Given the description of an element on the screen output the (x, y) to click on. 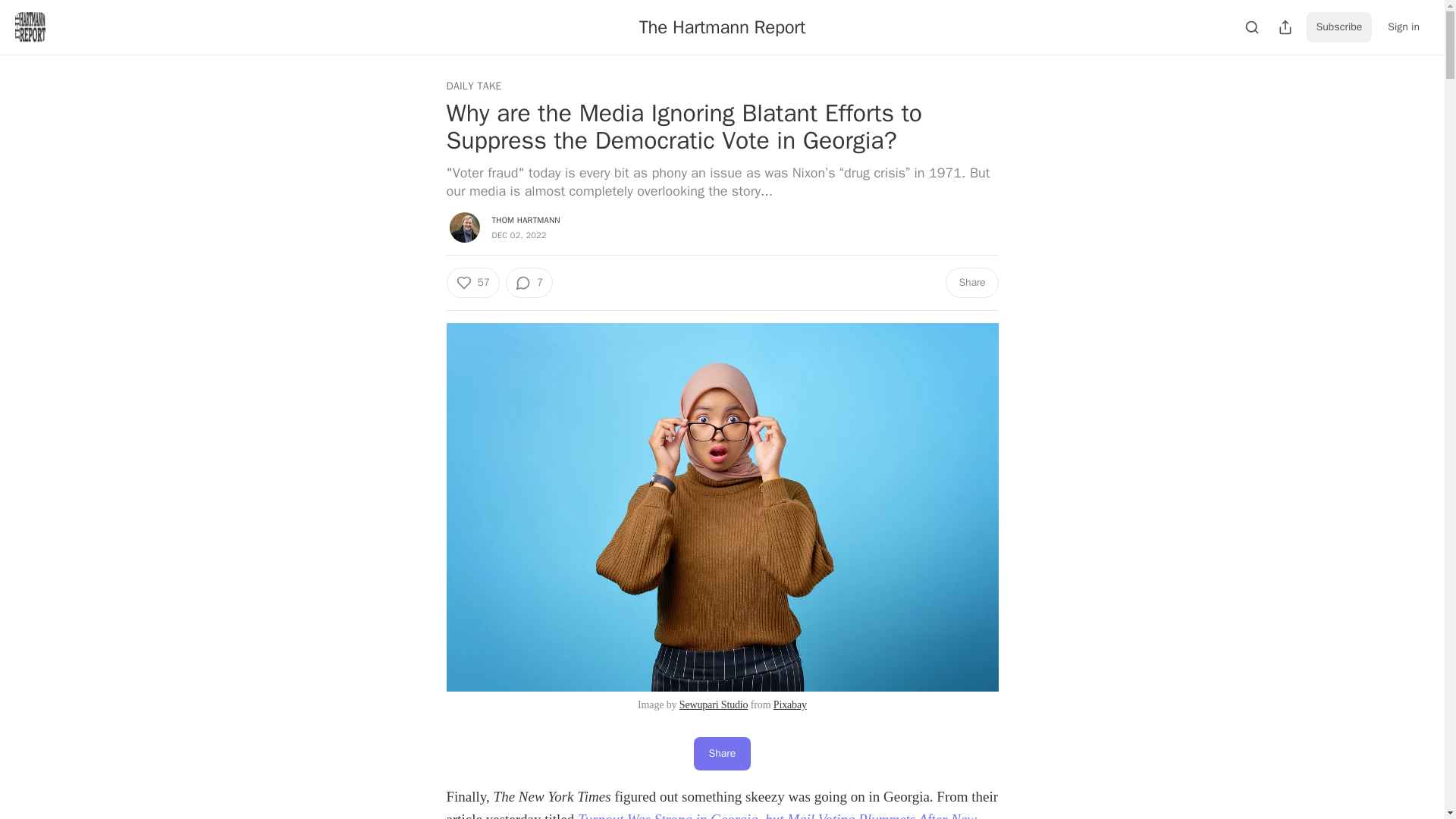
7 (529, 282)
Sewupari Studio (713, 704)
The Hartmann Report (722, 26)
Share (722, 753)
DAILY TAKE (472, 86)
Pixabay (789, 704)
Sign in (1403, 27)
Subscribe (1339, 27)
57 (472, 282)
